Given the description of an element on the screen output the (x, y) to click on. 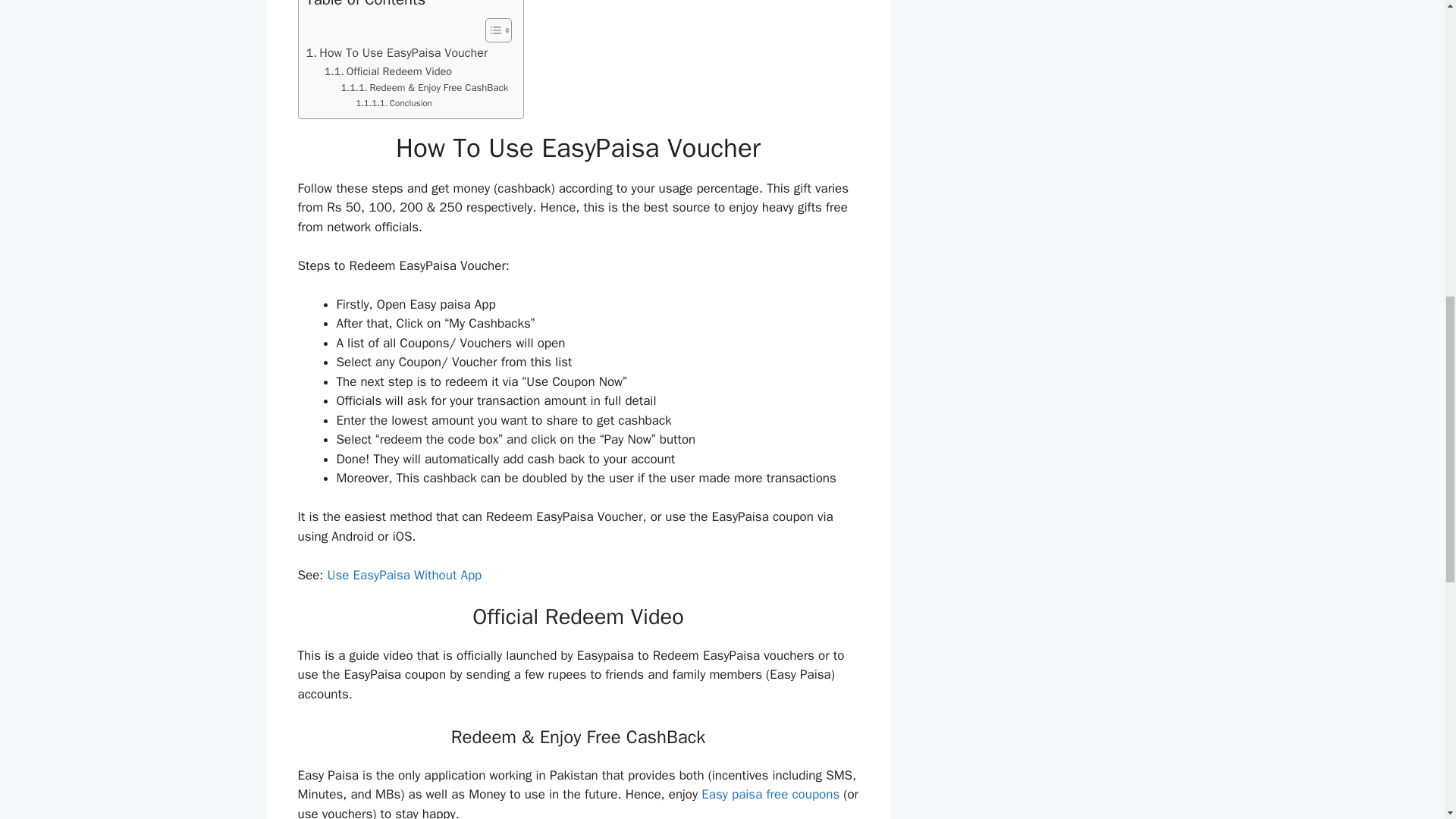
Conclusion (393, 103)
Conclusion (393, 103)
How To Use EasyPaisa Voucher (396, 53)
How To Use EasyPaisa Voucher (396, 53)
Official Redeem Video (387, 71)
Official Redeem Video (387, 71)
Use EasyPaisa Without App (404, 575)
Easy paisa free coupons (770, 794)
